Given the description of an element on the screen output the (x, y) to click on. 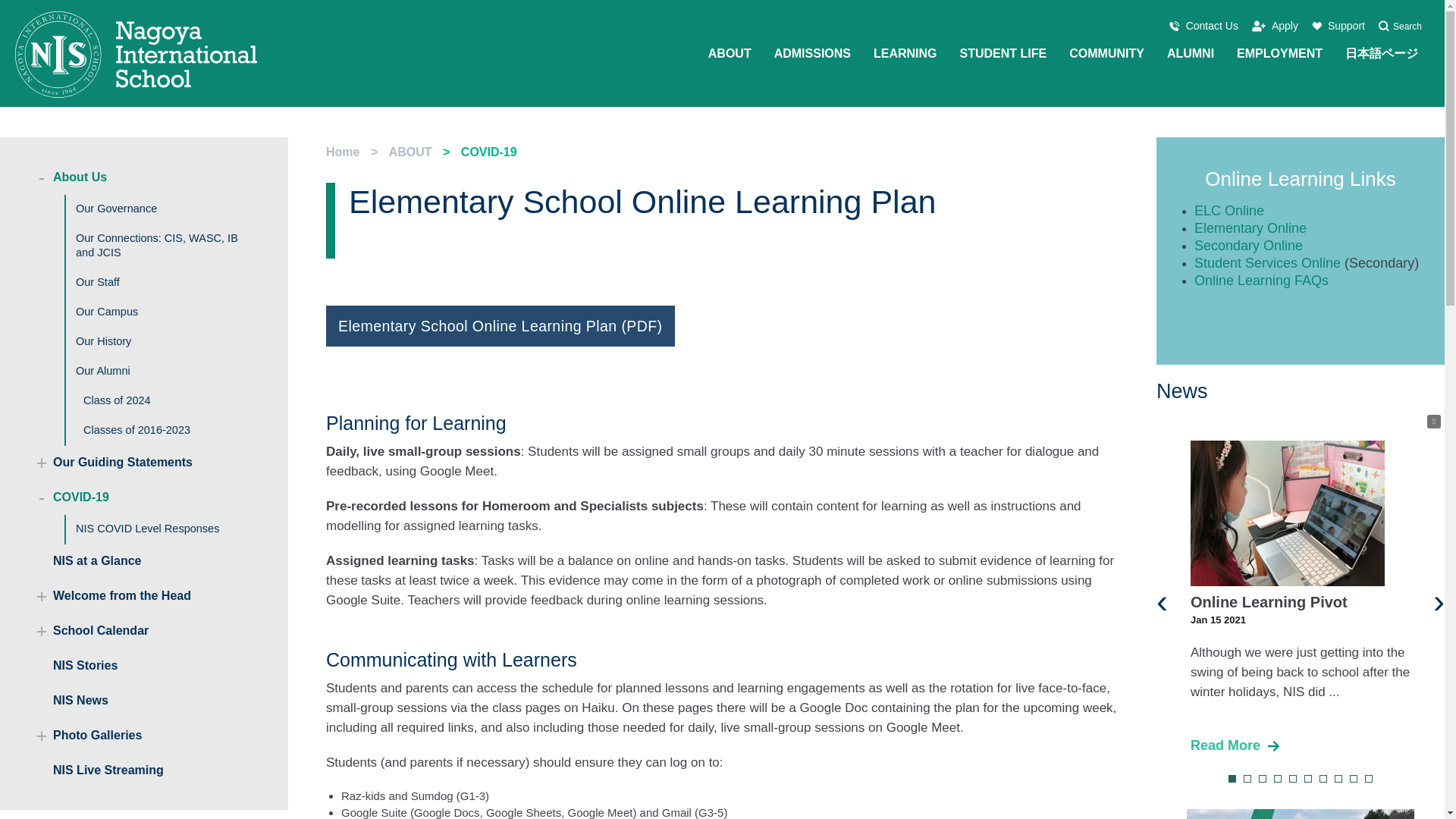
RSS (1433, 421)
